Given the description of an element on the screen output the (x, y) to click on. 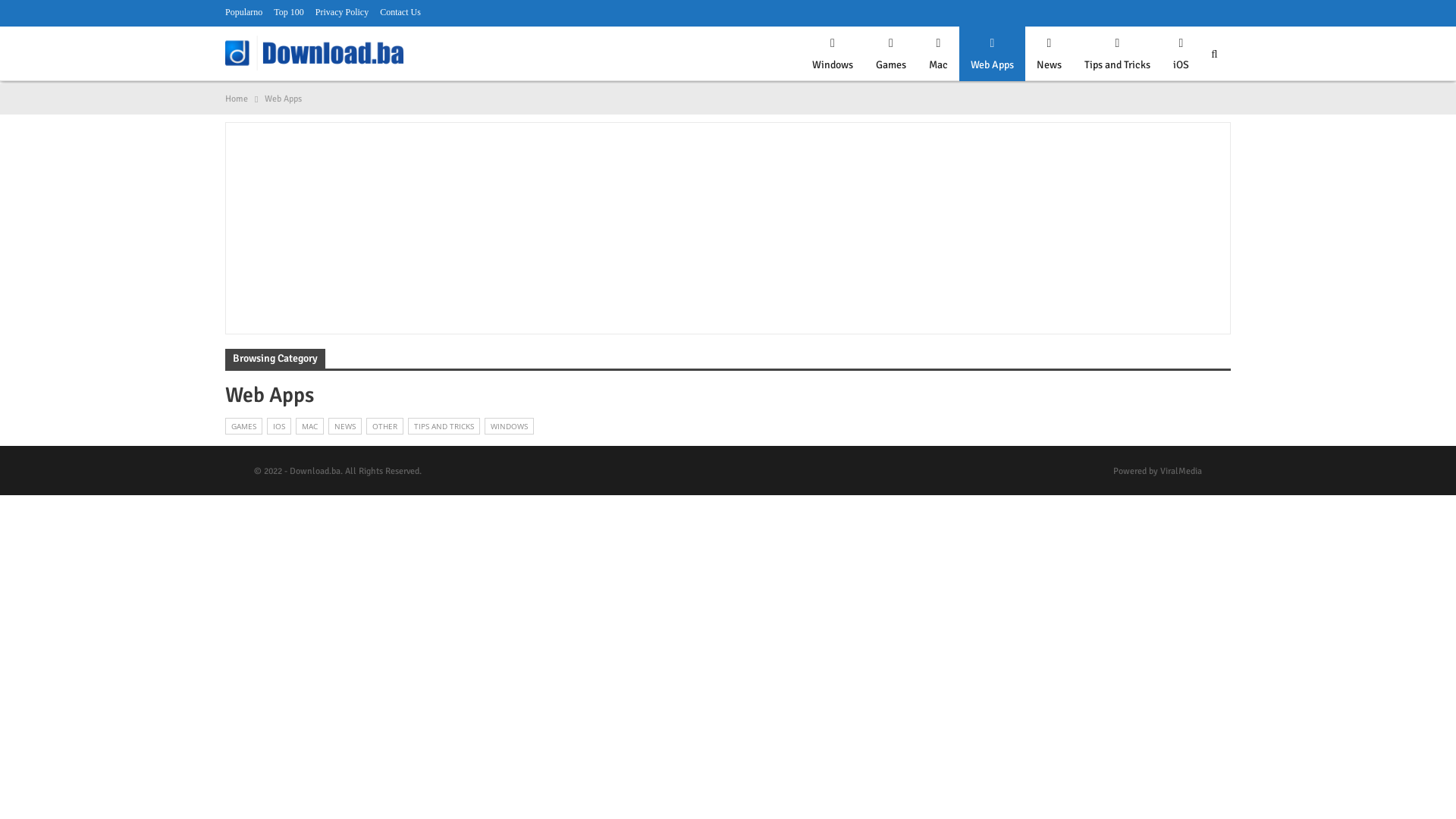
Tips and Tricks Element type: text (1117, 58)
Privacy Policy Element type: text (341, 11)
Mac Element type: text (938, 58)
Contact Us Element type: text (399, 11)
Windows Element type: text (832, 58)
IOS Element type: text (278, 425)
WINDOWS Element type: text (508, 425)
MAC Element type: text (309, 425)
GAMES Element type: text (243, 425)
Popularno Element type: text (243, 11)
OTHER Element type: text (384, 425)
TIPS AND TRICKS Element type: text (443, 425)
Games Element type: text (890, 58)
News Element type: text (1049, 58)
Home Element type: text (236, 99)
Web Apps Element type: text (992, 58)
iOS Element type: text (1180, 58)
NEWS Element type: text (344, 425)
Advertisement Element type: hover (727, 225)
Top 100 Element type: text (288, 11)
